Given the description of an element on the screen output the (x, y) to click on. 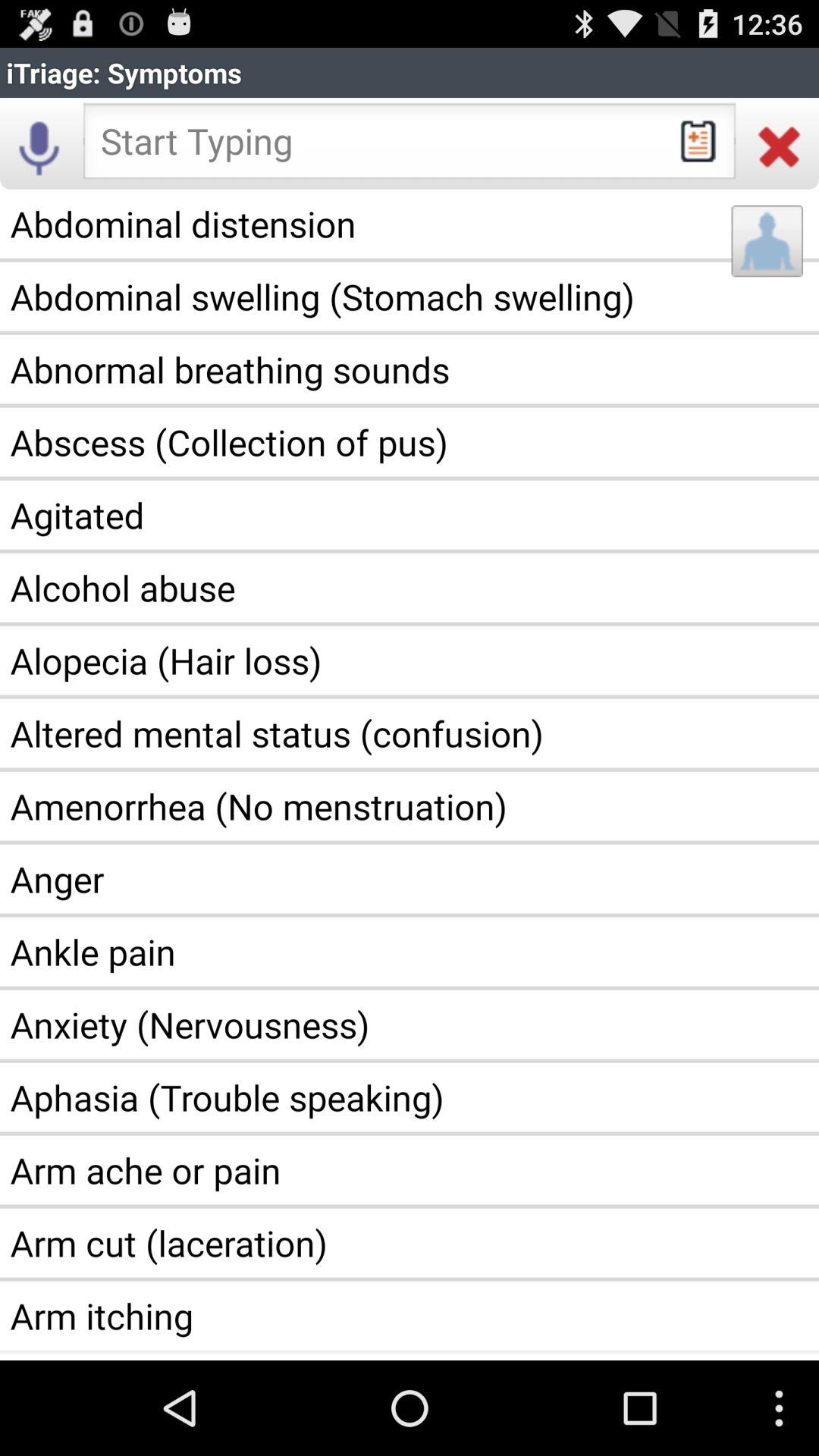
click item above the anger icon (409, 806)
